Given the description of an element on the screen output the (x, y) to click on. 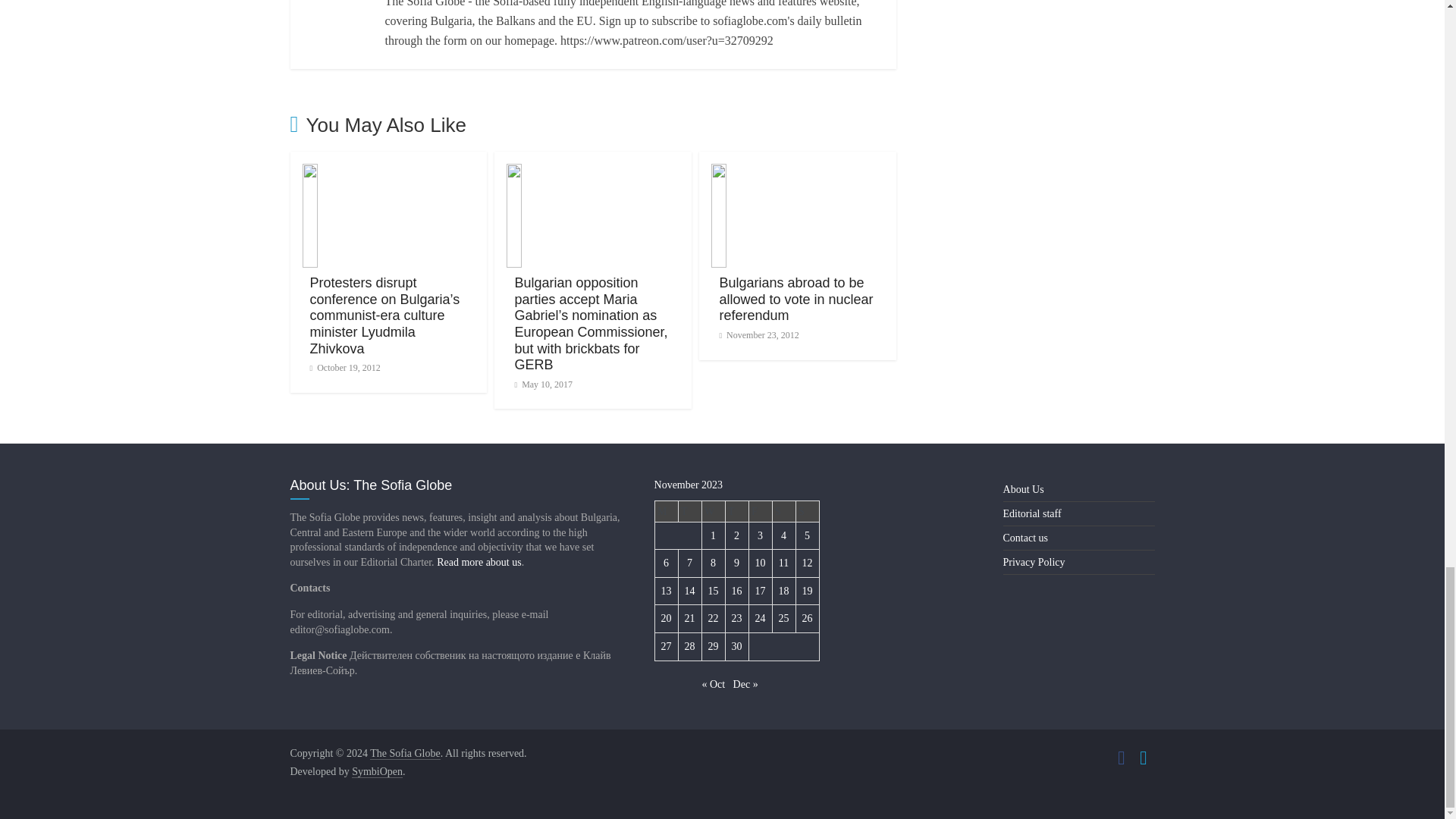
5:35 PM (344, 367)
May 10, 2017 (542, 384)
1:07 PM (542, 384)
November 23, 2012 (758, 335)
October 19, 2012 (344, 367)
